Given the description of an element on the screen output the (x, y) to click on. 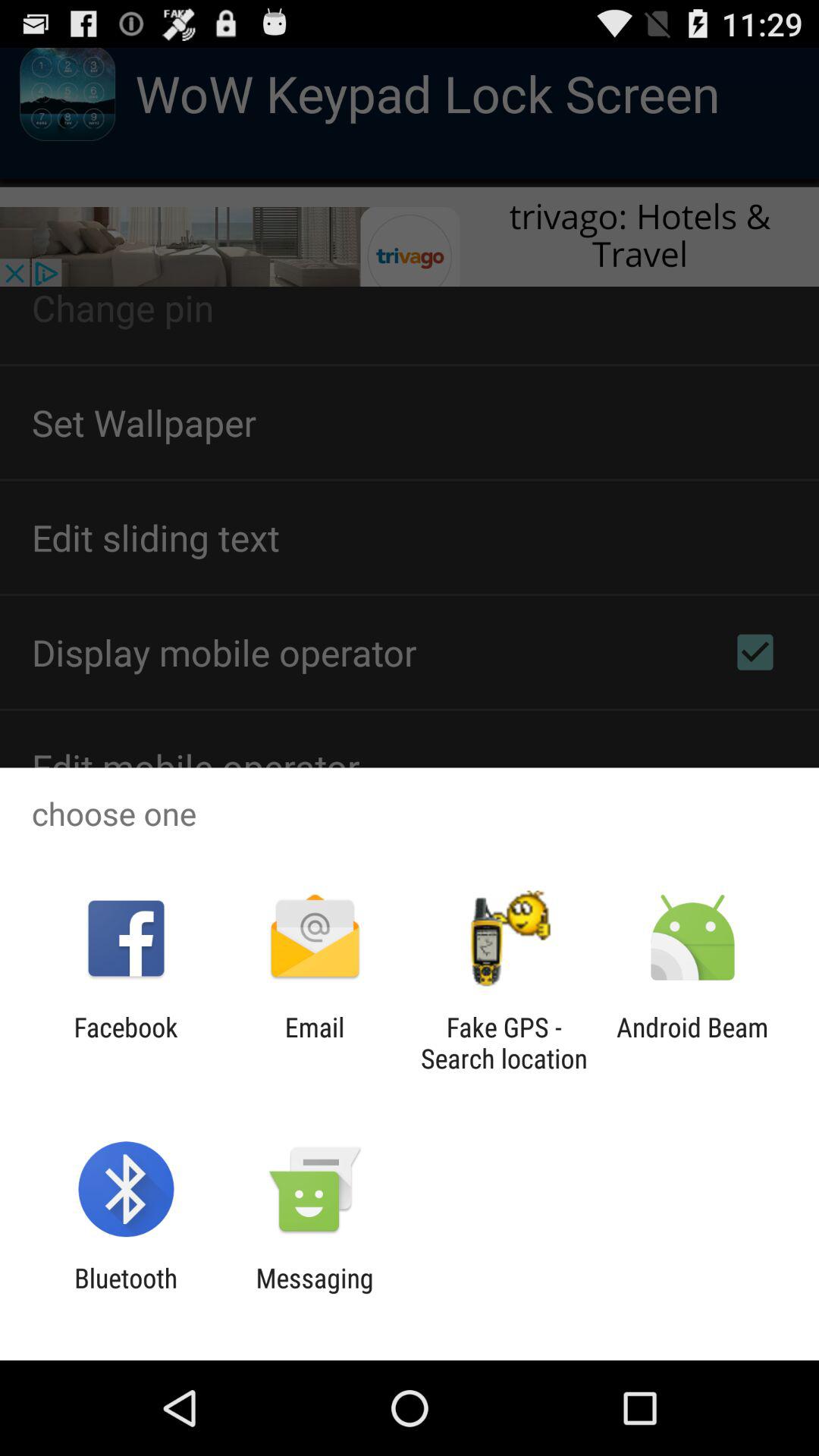
swipe to the messaging icon (314, 1293)
